Given the description of an element on the screen output the (x, y) to click on. 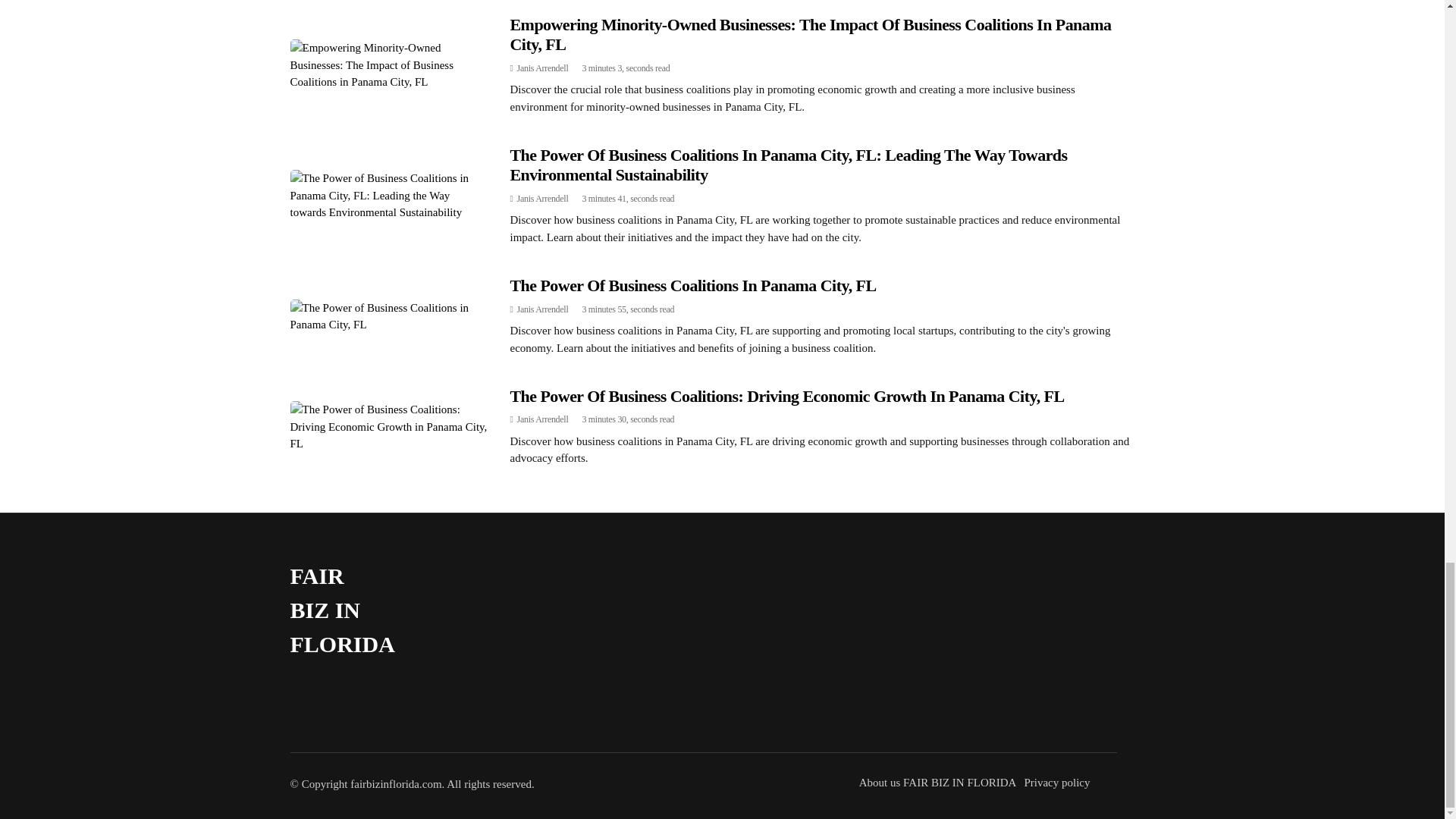
Janis Arrendell (542, 68)
Posts by Janis Arrendell (542, 68)
Janis Arrendell (542, 419)
Posts by Janis Arrendell (542, 419)
Posts by Janis Arrendell (542, 308)
The Power Of Business Coalitions In Panama City, FL (692, 285)
Janis Arrendell (542, 308)
